Given the description of an element on the screen output the (x, y) to click on. 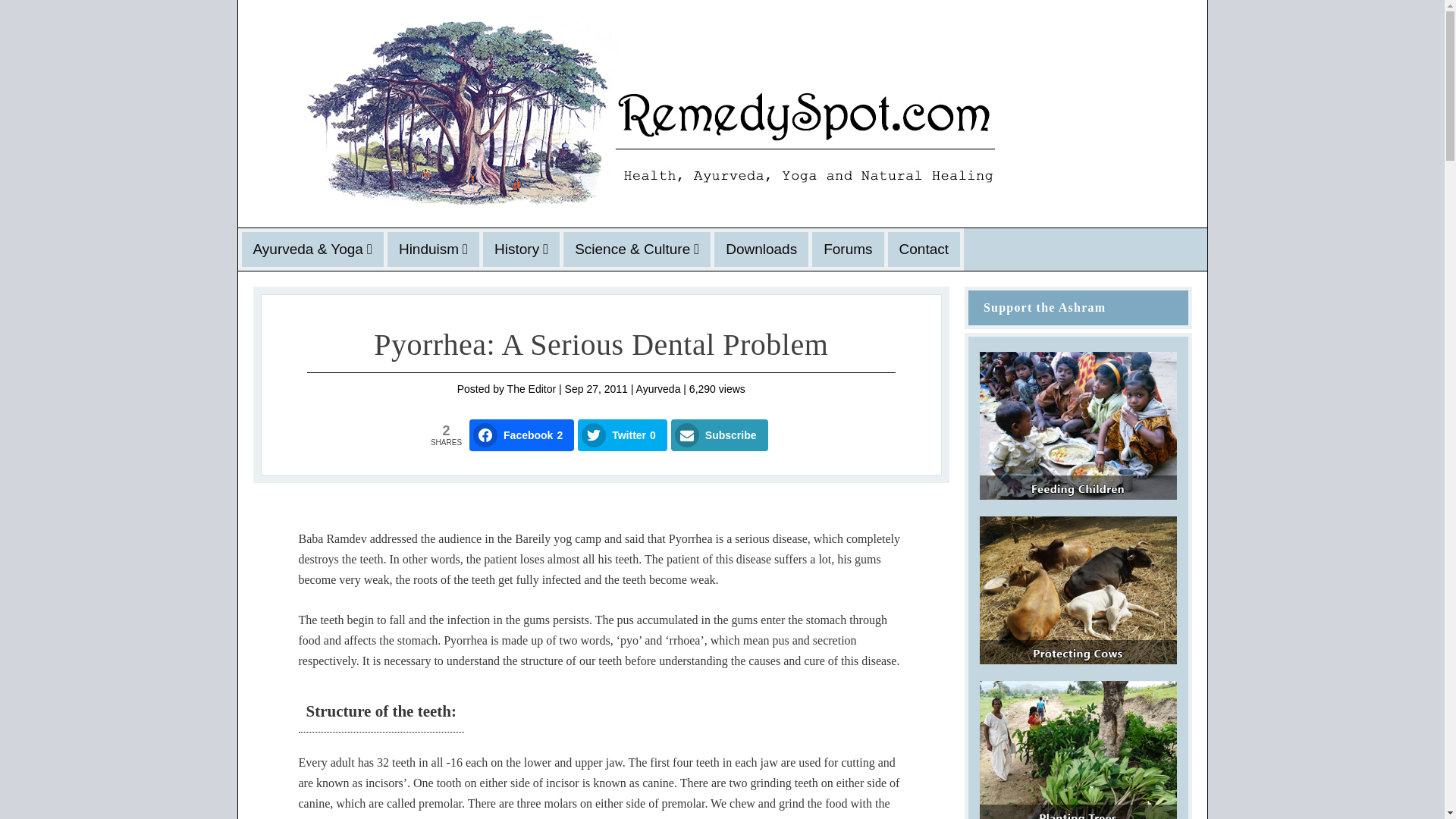
Contact (924, 249)
Share on Twitter (622, 435)
Share on Facebook (520, 435)
Posts by The Editor (531, 388)
Downloads (760, 249)
Forums (848, 249)
Hinduism (432, 249)
History (521, 249)
Share on Subscribe (719, 435)
